Given the description of an element on the screen output the (x, y) to click on. 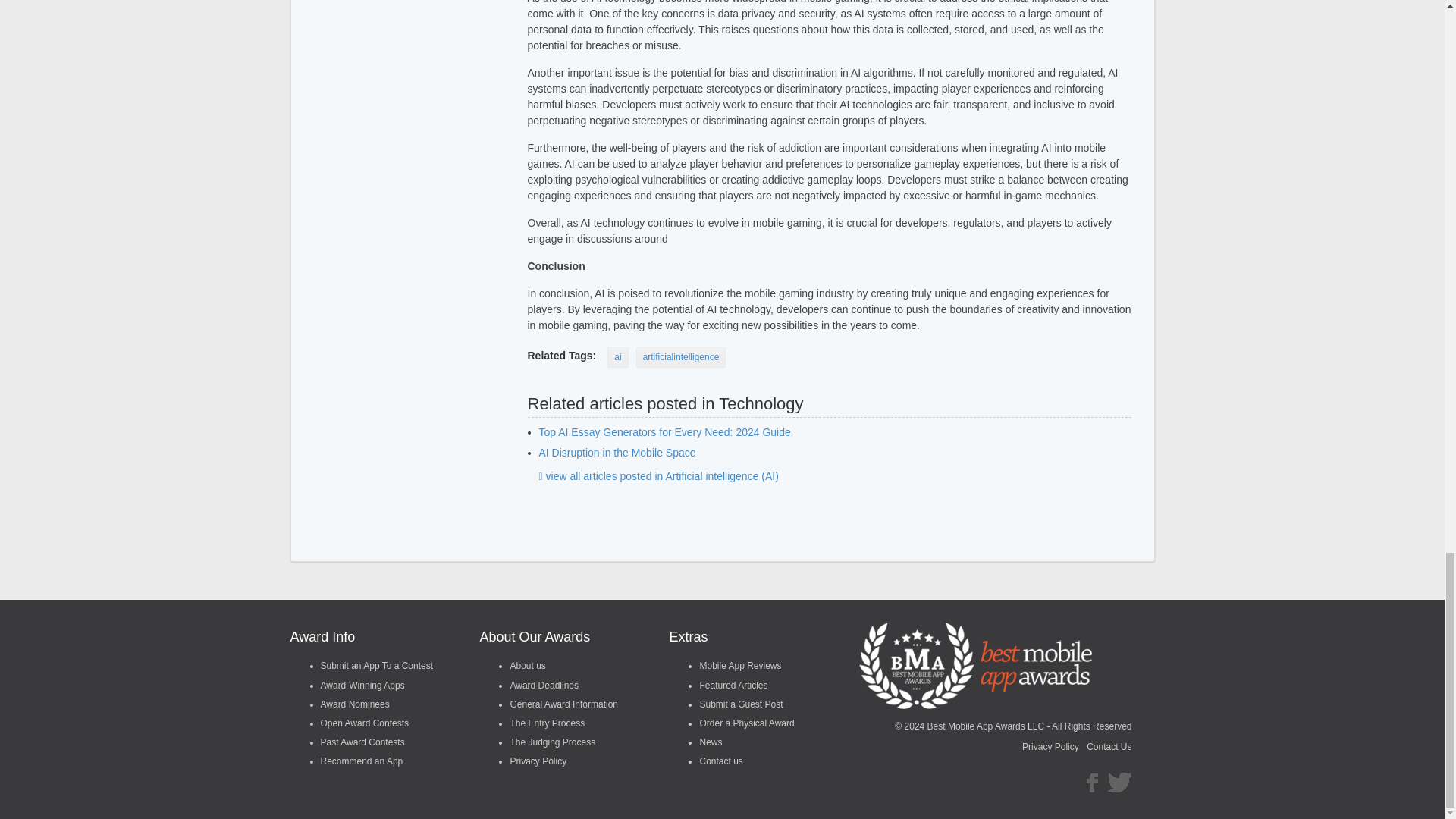
artificialintelligence (681, 357)
Top AI Essay Generators for Every Need: 2024 Guide (664, 431)
view articles tagged ai (617, 357)
ai (617, 357)
AI Disruption in the Mobile Space (616, 452)
read entire article AI Disruption in the Mobile Space (616, 452)
view articles tagged artificialintelligence (681, 357)
